Given the description of an element on the screen output the (x, y) to click on. 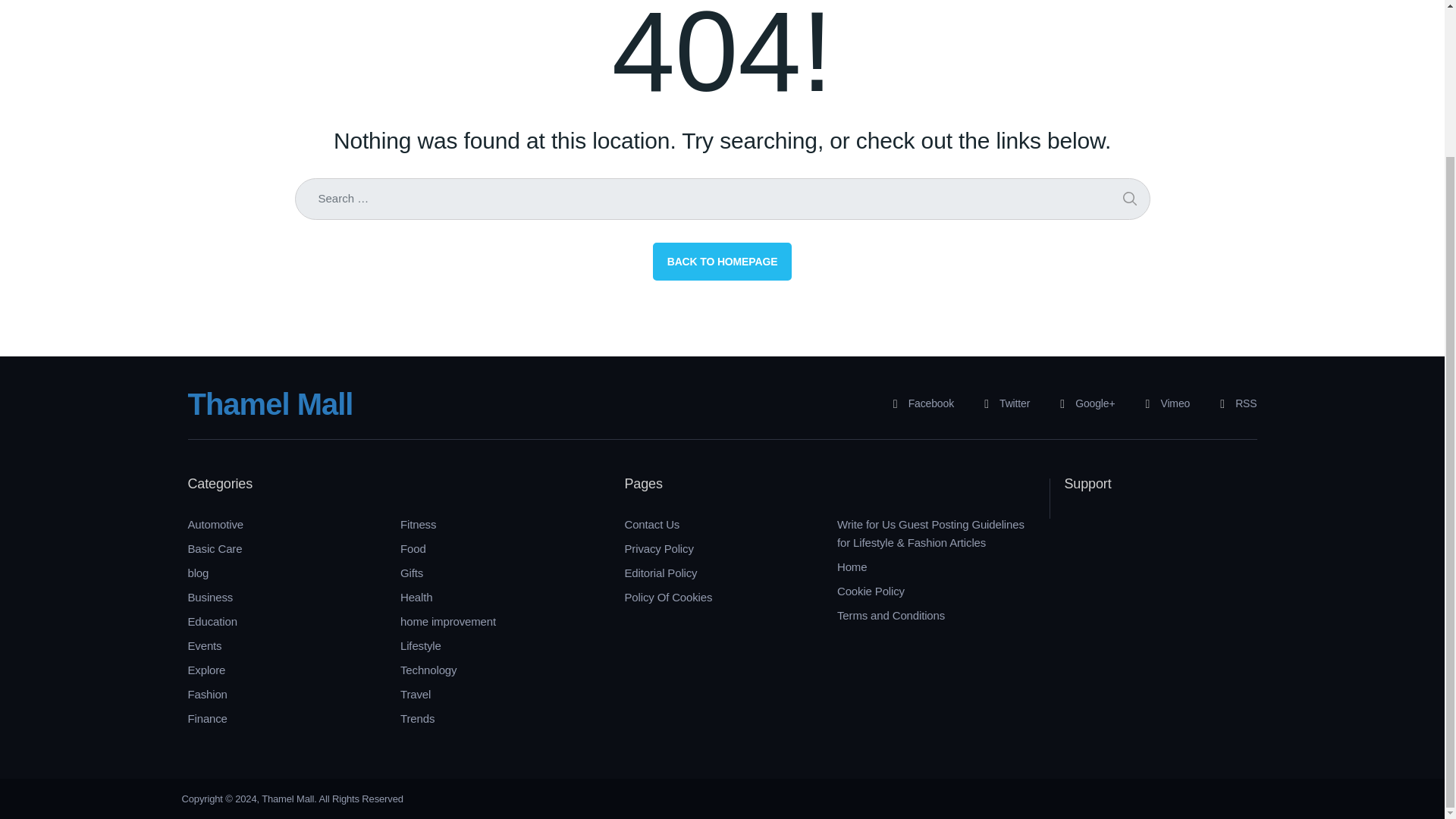
SEARCH (1128, 199)
BACK TO HOMEPAGE (722, 260)
Facebook (917, 403)
Twitter (1001, 403)
Thamel Mall (270, 404)
